Given the description of an element on the screen output the (x, y) to click on. 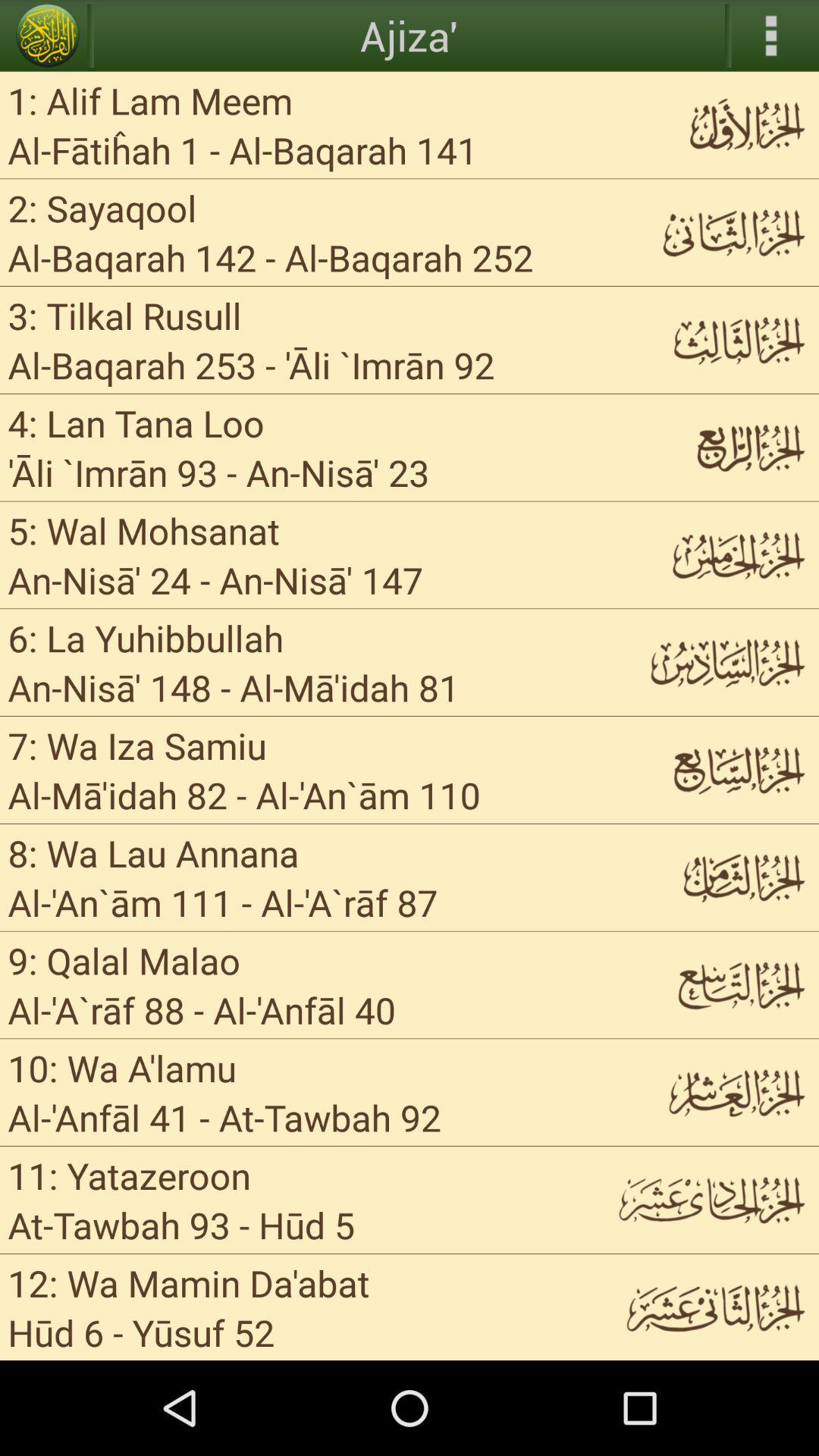
flip to the 9: qalal malao app (123, 960)
